Given the description of an element on the screen output the (x, y) to click on. 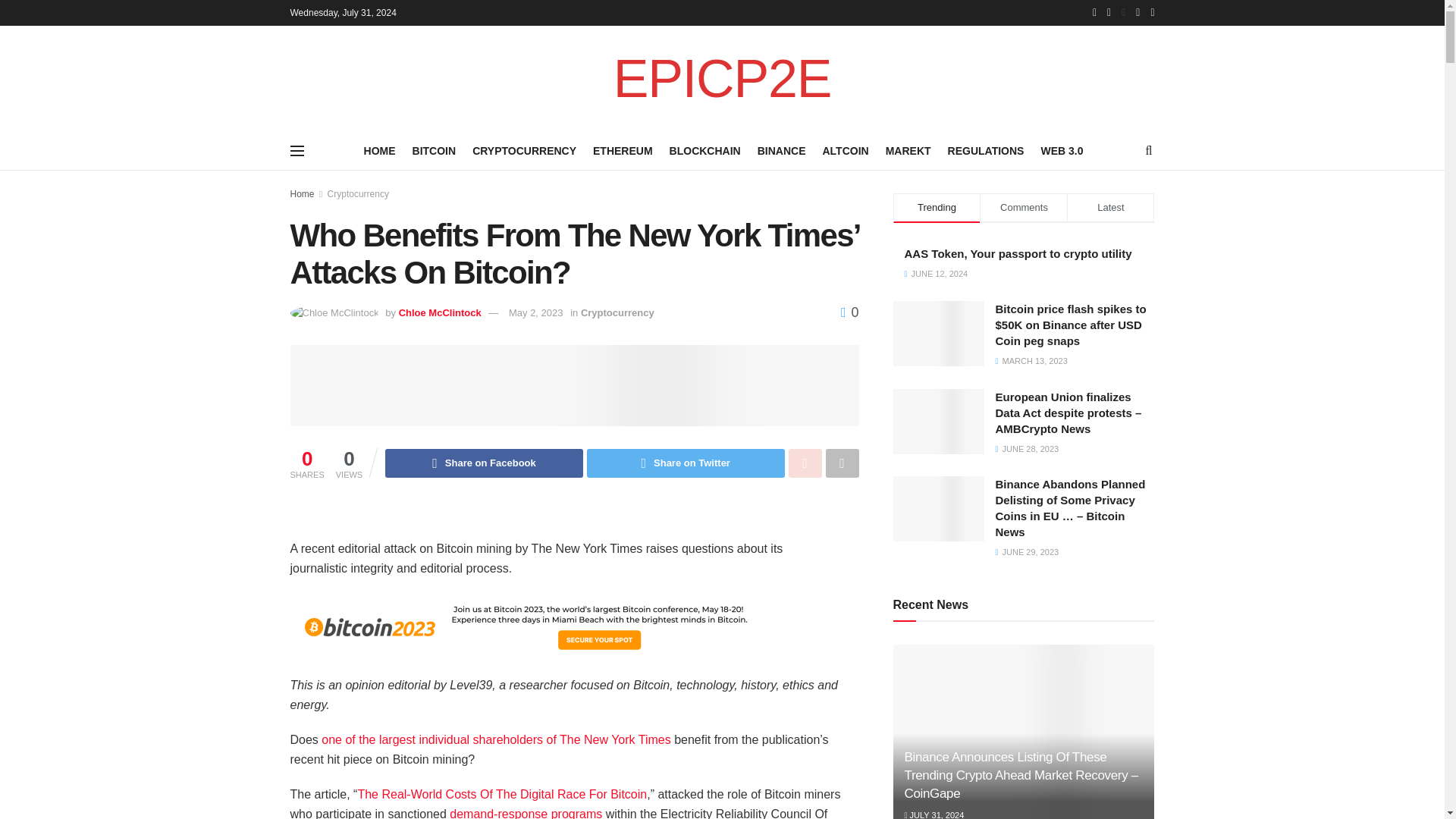
REGULATIONS (986, 150)
BITCOIN (434, 150)
EPICP2E (721, 78)
Share on Facebook (484, 462)
ALTCOIN (844, 150)
BLOCKCHAIN (705, 150)
May 2, 2023 (535, 312)
HOME (380, 150)
Share on Twitter (685, 462)
Chloe McClintock (439, 312)
